Given the description of an element on the screen output the (x, y) to click on. 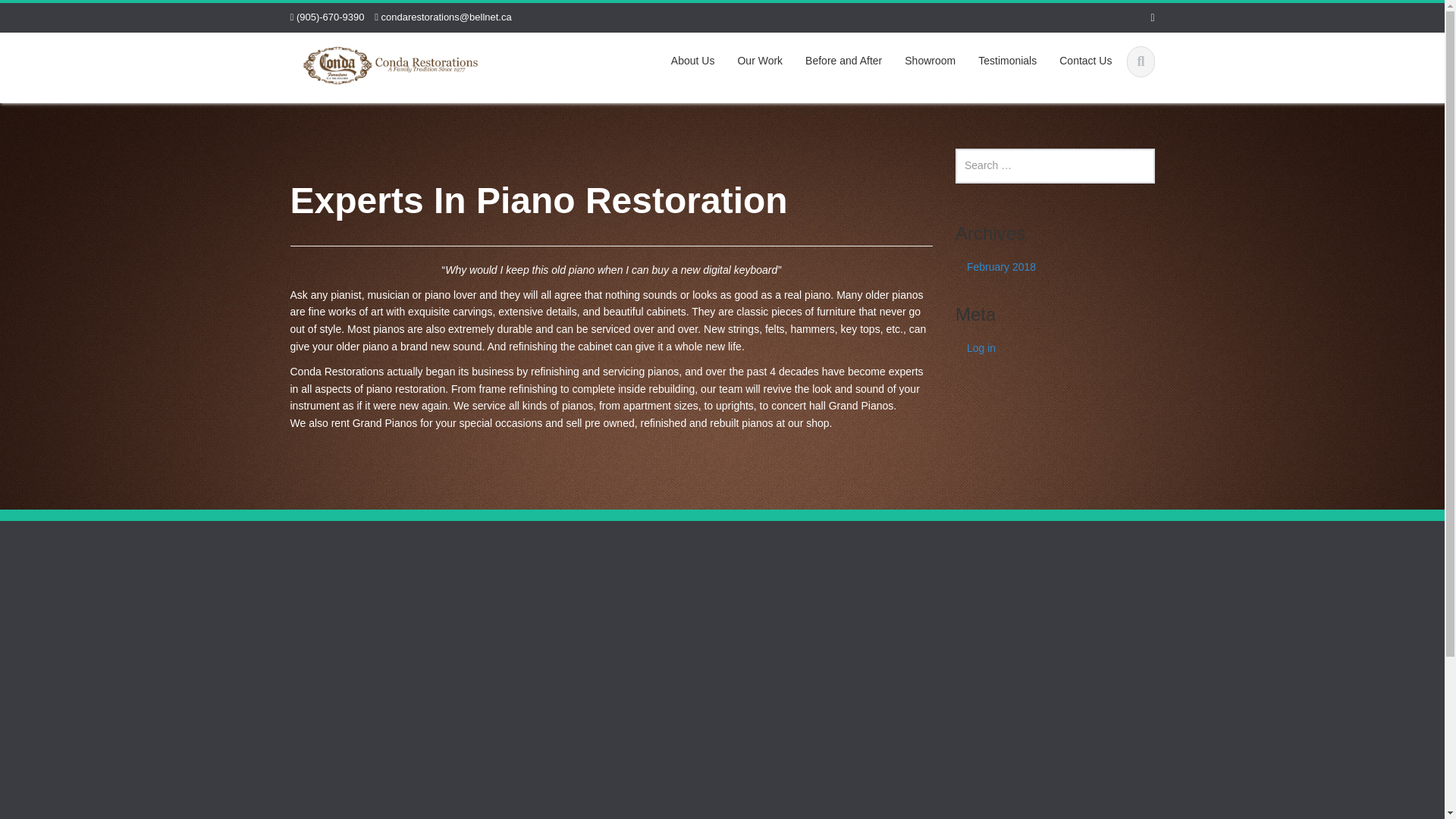
Contact Us (1085, 60)
Testimonials (1007, 60)
Log in (1054, 348)
Showroom (929, 60)
Before and After (843, 60)
Our Work (759, 60)
Conda Restorations (390, 63)
Search (37, 16)
February 2018 (1054, 266)
About Us (692, 60)
